Given the description of an element on the screen output the (x, y) to click on. 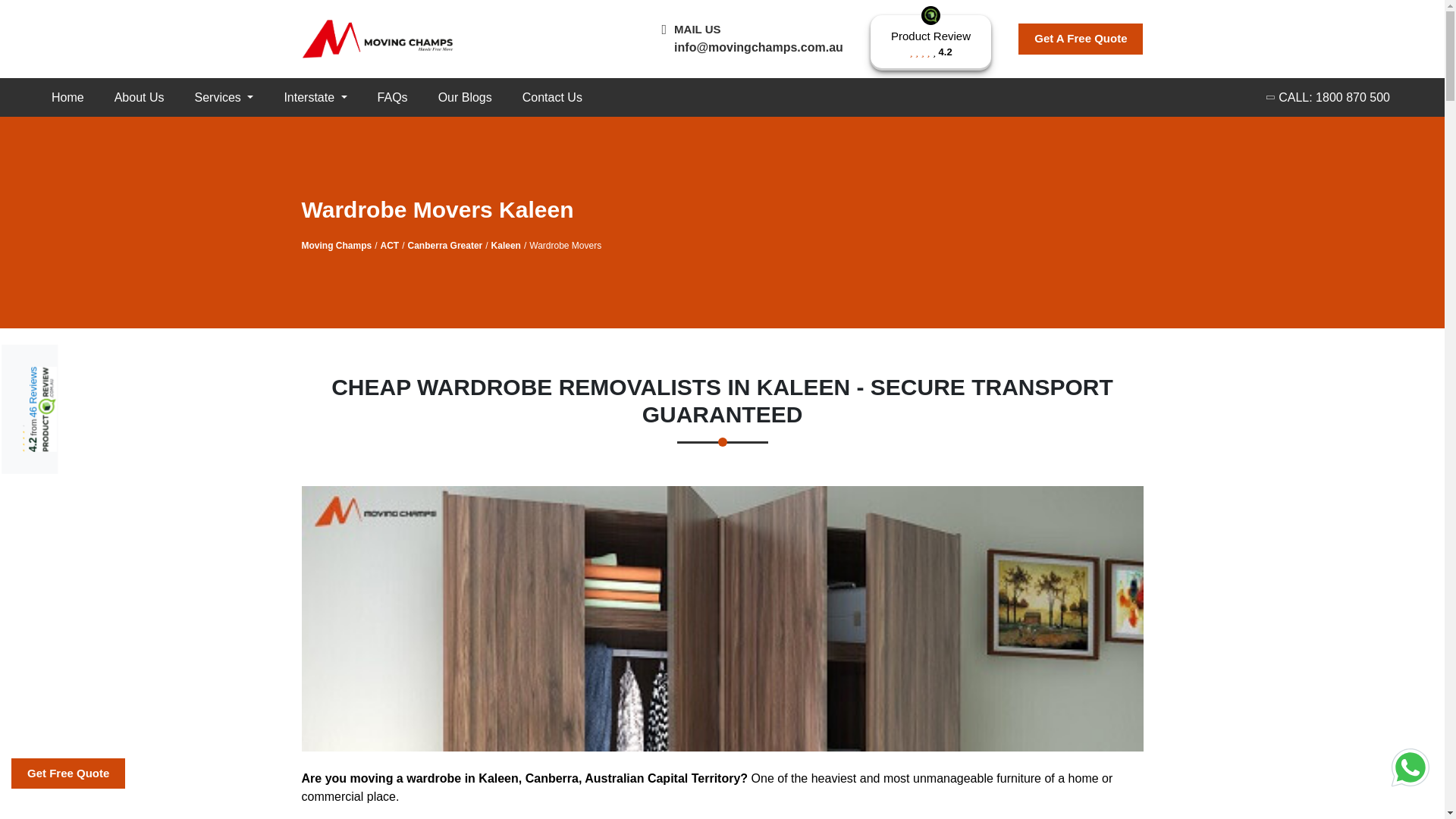
Canberra Greater (930, 42)
About Moving Champs  (445, 245)
Get A Free Quote (139, 97)
CALL: 1800 870 500 (1079, 38)
Moving Services (1329, 97)
Our Blogs (223, 97)
Contact Us (464, 97)
Home (551, 97)
Cheap Moving Company Near Me (67, 97)
